Given the description of an element on the screen output the (x, y) to click on. 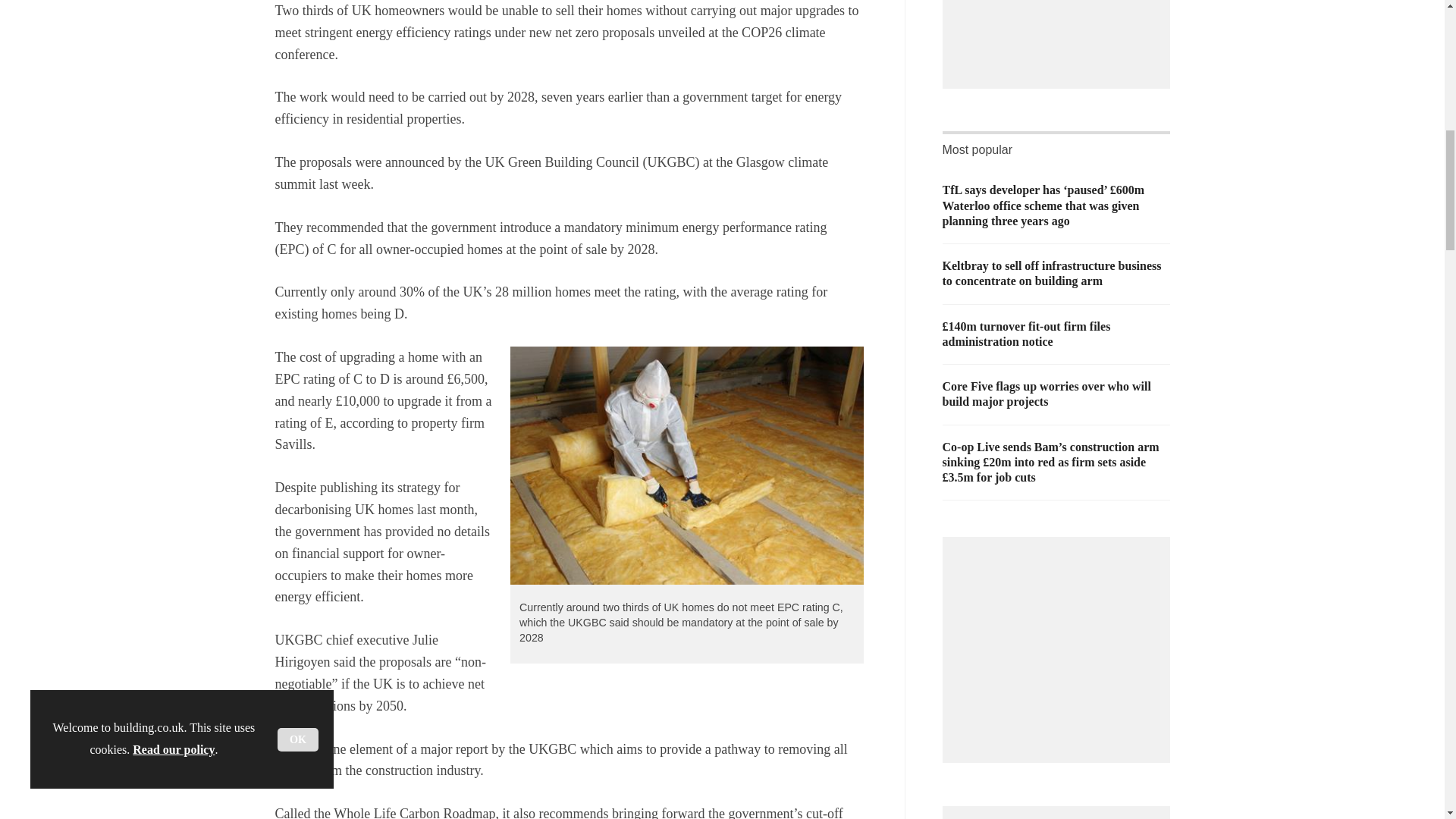
3rd party ad content (1059, 31)
3rd party ad content (1059, 642)
